Given the description of an element on the screen output the (x, y) to click on. 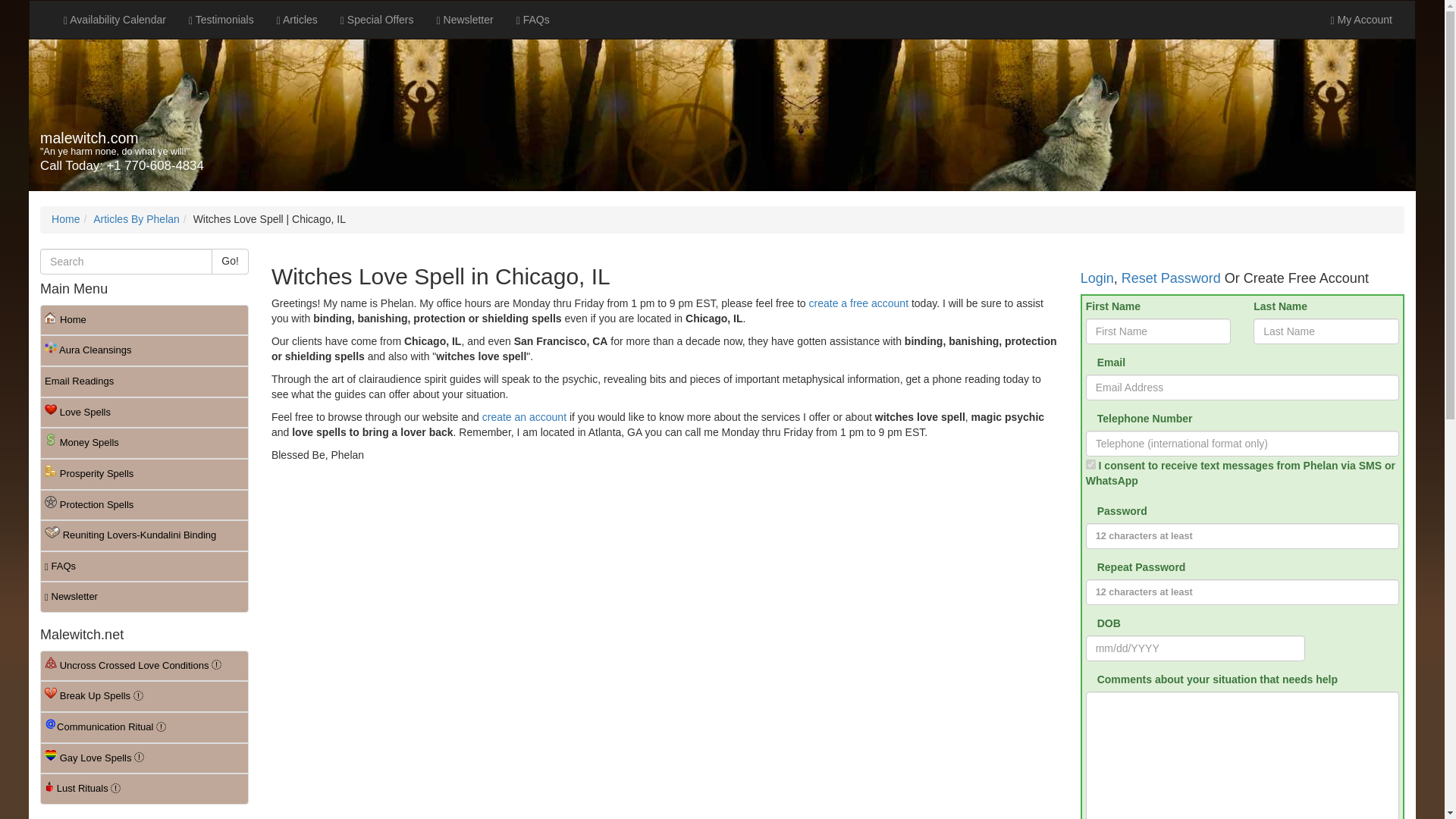
Home (65, 218)
phelan's articles (296, 19)
Communication Ritual (144, 726)
Love Spells (144, 412)
FAQs (532, 19)
Home (144, 319)
Money Spells (144, 442)
reuniting lovers (144, 535)
availability calendar (114, 19)
Newsletter (465, 19)
